Given the description of an element on the screen output the (x, y) to click on. 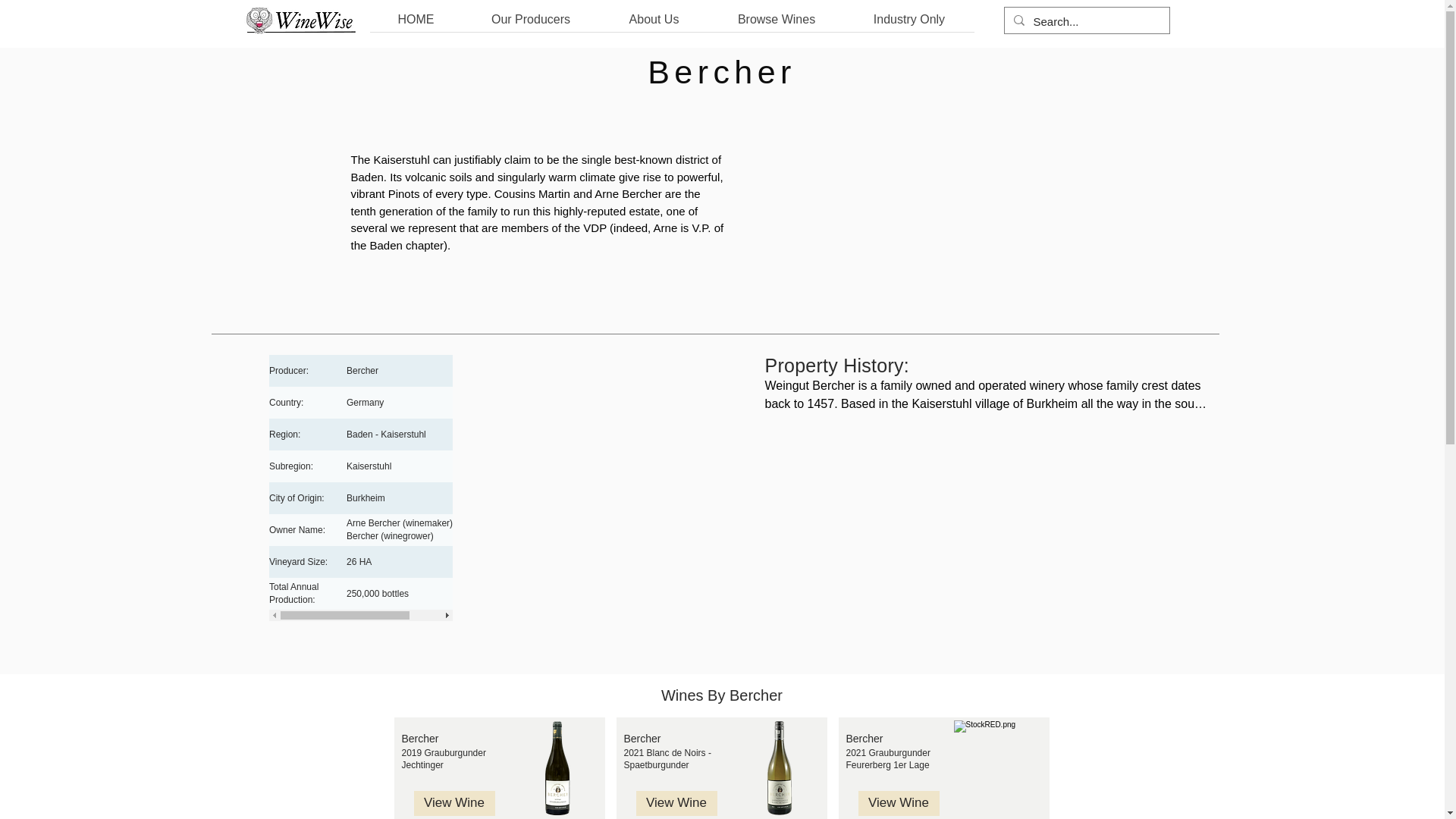
View Wine (675, 803)
GBE-GBF21.png (1001, 767)
Industry Only (909, 23)
About Us (652, 23)
GBE-BDN21.png (778, 767)
HOME (416, 23)
GBE-GBJ19.png (557, 767)
View Wine (899, 803)
Browse Wines (775, 23)
View Wine (454, 803)
Our Producers (531, 23)
